Given the description of an element on the screen output the (x, y) to click on. 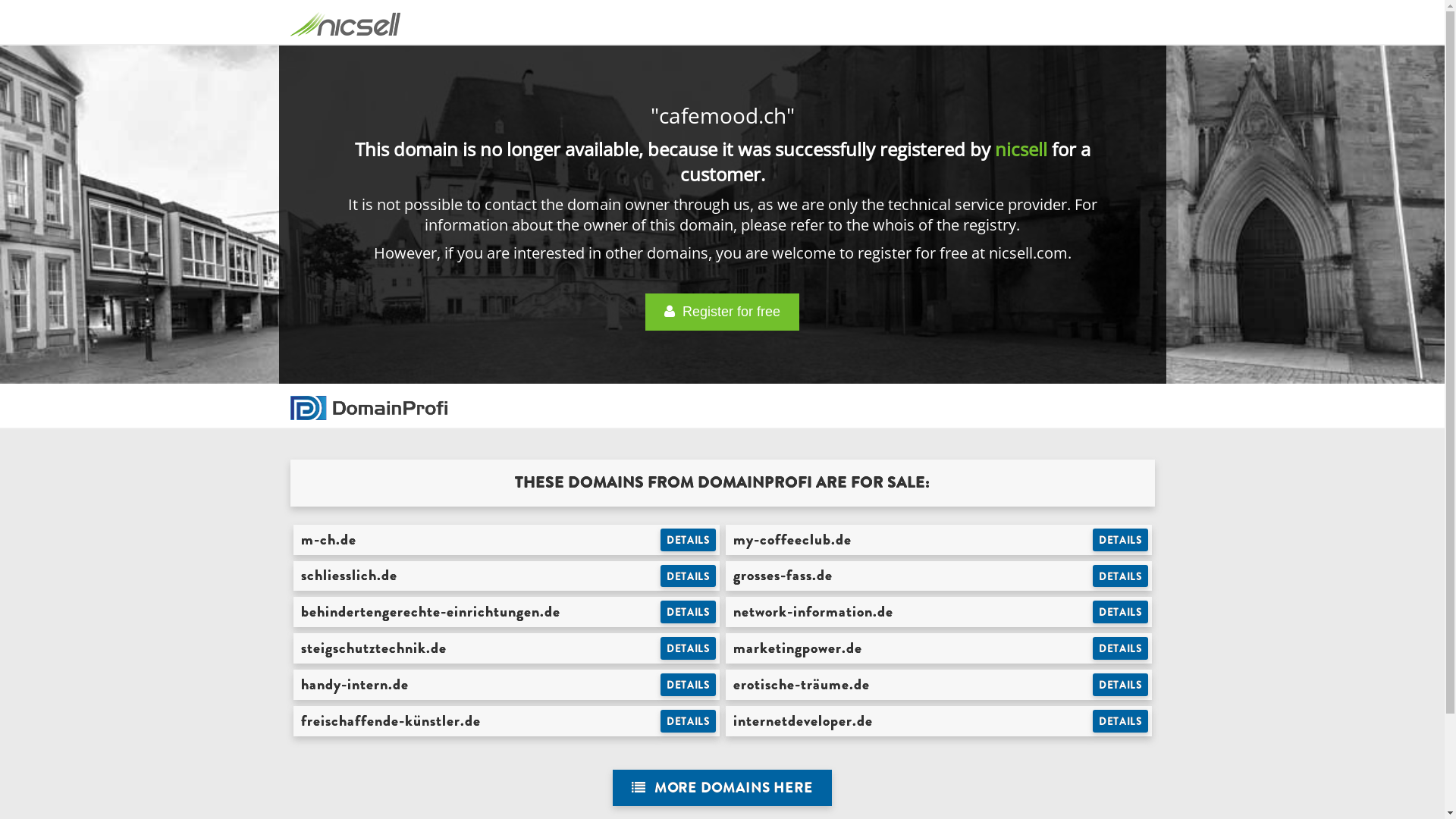
DETAILS Element type: text (687, 648)
DETAILS Element type: text (1120, 720)
  Register for free Element type: text (722, 311)
DETAILS Element type: text (687, 539)
DETAILS Element type: text (687, 575)
DETAILS Element type: text (1120, 575)
DETAILS Element type: text (1120, 539)
DETAILS Element type: text (1120, 684)
DETAILS Element type: text (687, 684)
DETAILS Element type: text (687, 611)
  MORE DOMAINS HERE Element type: text (721, 787)
DETAILS Element type: text (1120, 648)
nicsell Element type: text (1020, 148)
DETAILS Element type: text (687, 720)
DETAILS Element type: text (1120, 611)
